Given the description of an element on the screen output the (x, y) to click on. 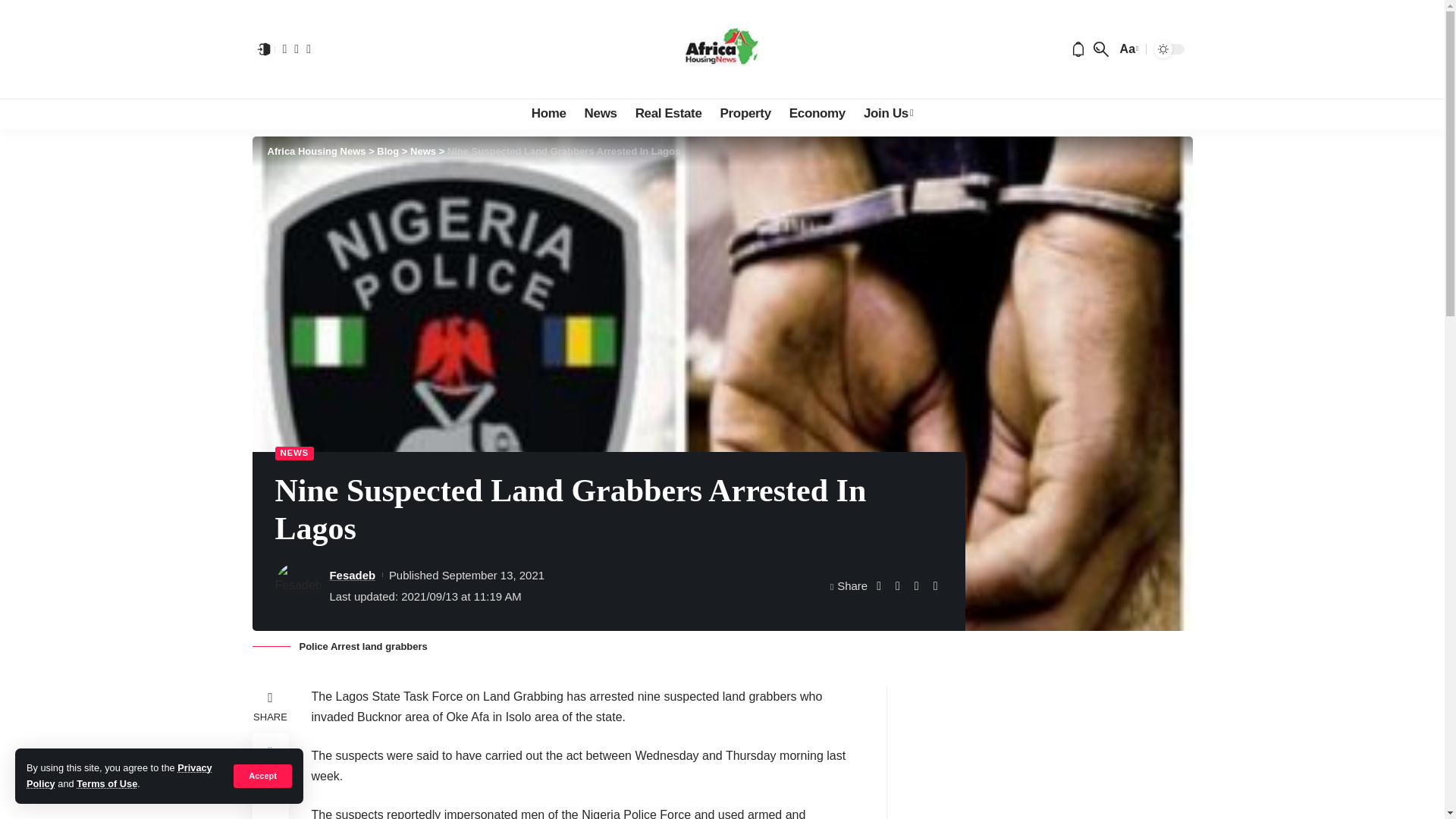
Join Us (887, 113)
Property (745, 113)
Home (548, 113)
Accept (262, 775)
Go to Blog. (387, 151)
Terms of Use (106, 783)
Aa (1127, 48)
Privacy Policy (119, 775)
Africa Housing News (722, 48)
Go to the News Category archives. (422, 151)
News (600, 113)
Economy (817, 113)
Real Estate (668, 113)
Go to Africa Housing News. (315, 151)
